Given the description of an element on the screen output the (x, y) to click on. 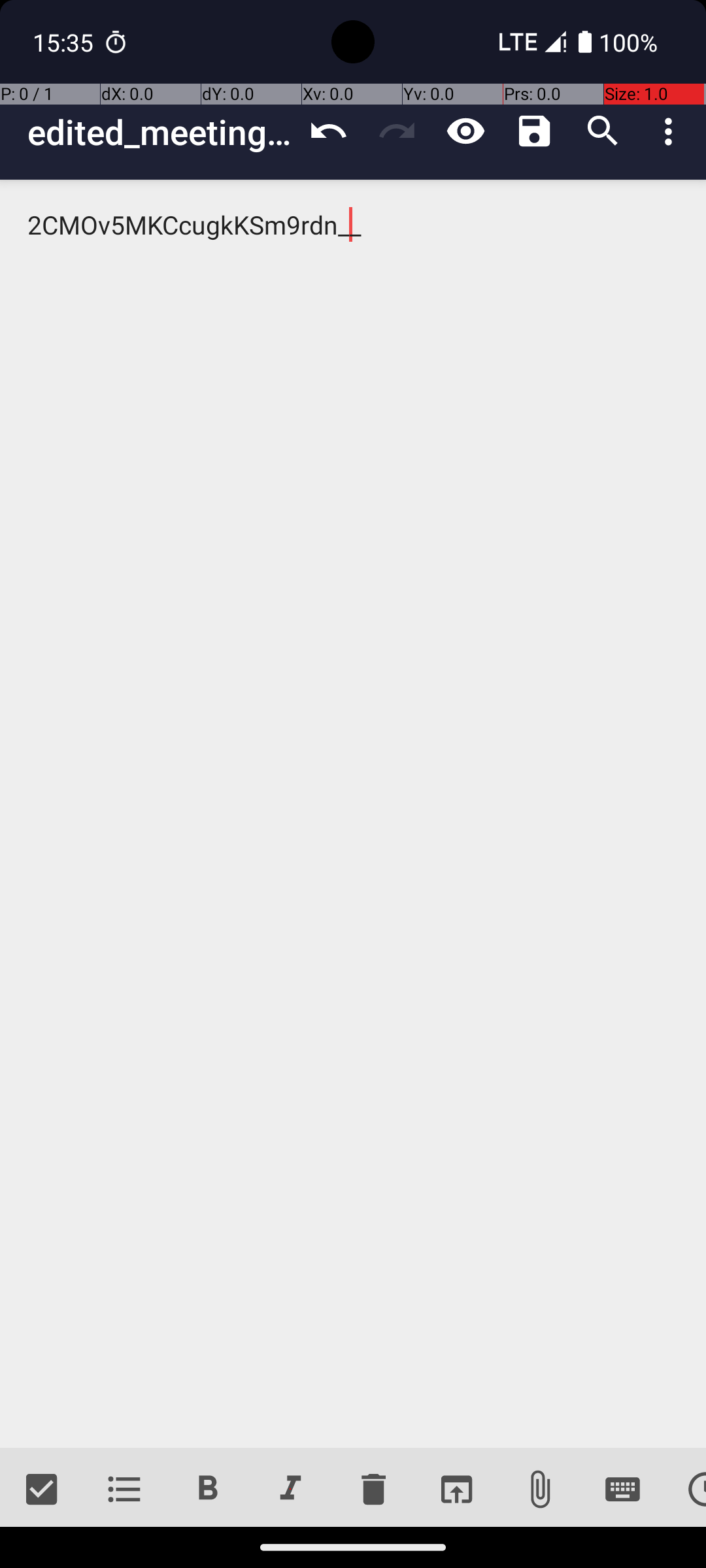
edited_meeting_notes_project_team Element type: android.widget.TextView (160, 131)
2CMOv5MKCcugkKSm9rdn__ Element type: android.widget.EditText (353, 813)
